Given the description of an element on the screen output the (x, y) to click on. 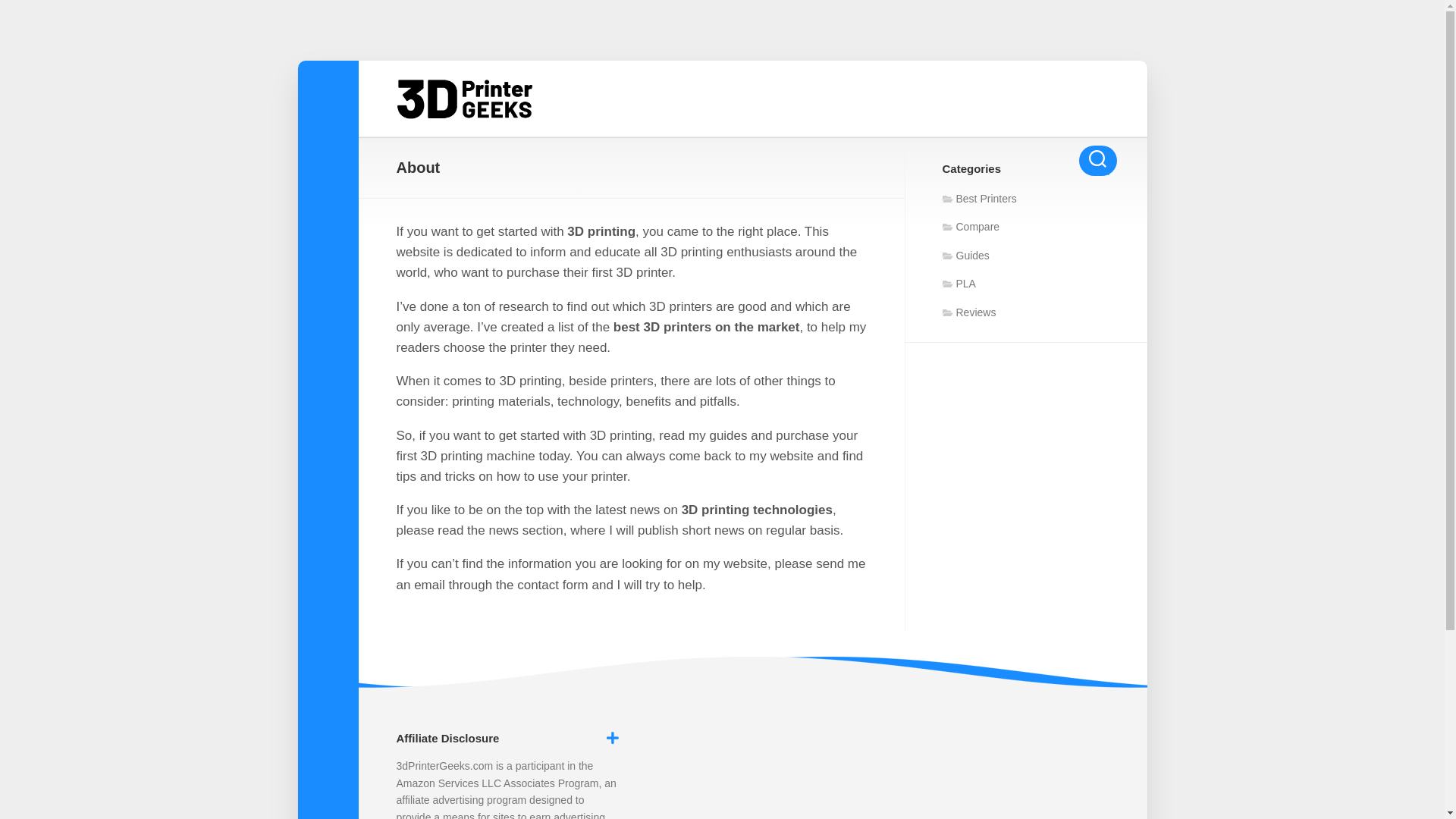
Compare Element type: text (970, 226)
PLA Element type: text (958, 283)
Guides Element type: text (964, 254)
Reviews Element type: text (968, 312)
Best Printers Element type: text (978, 198)
